Given the description of an element on the screen output the (x, y) to click on. 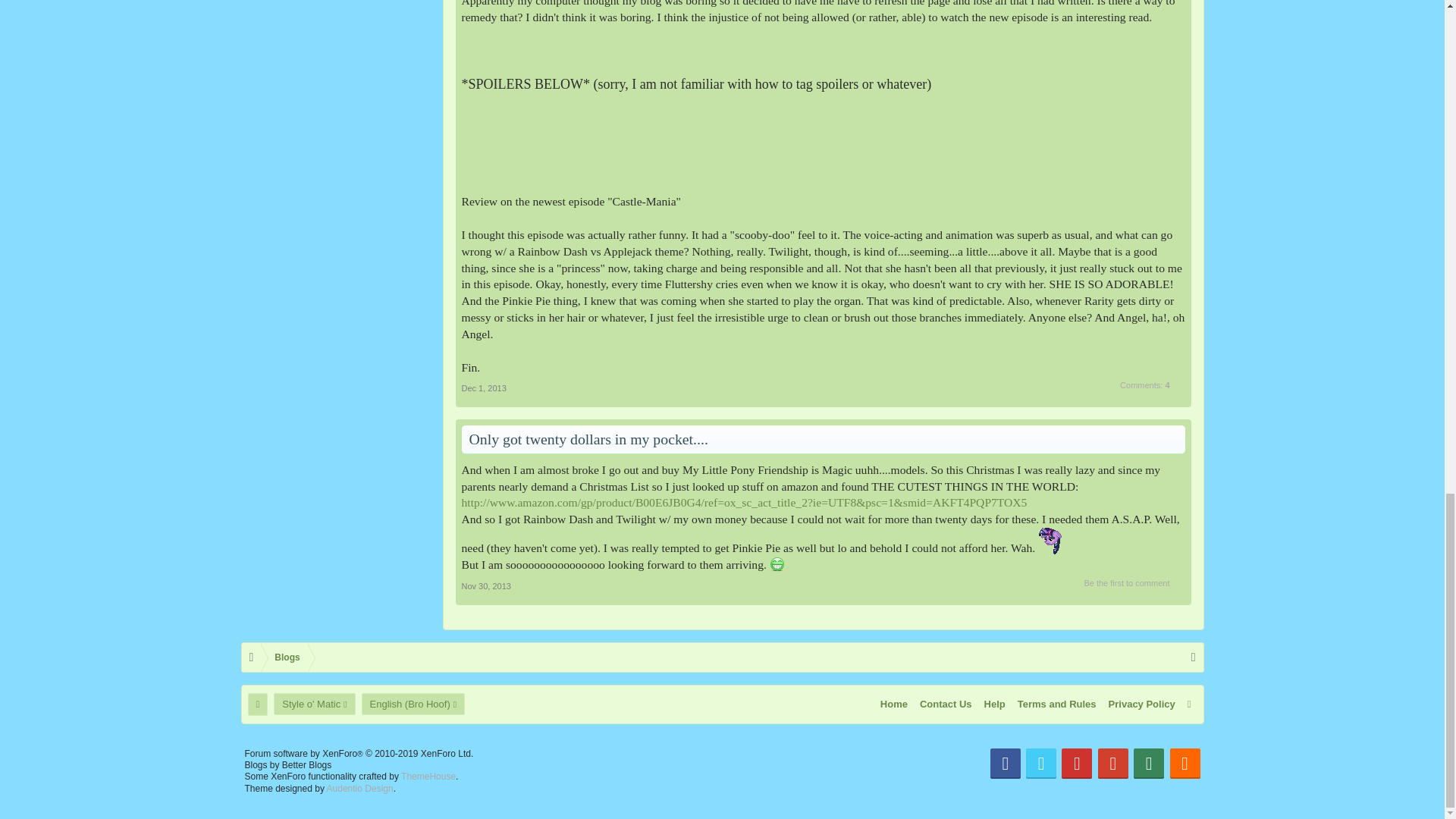
Big Grin    :D (777, 563)
Dec 1, 2013 at 7:41 PM (483, 388)
Nov 30, 2013 at 2:34 AM (486, 585)
